Given the description of an element on the screen output the (x, y) to click on. 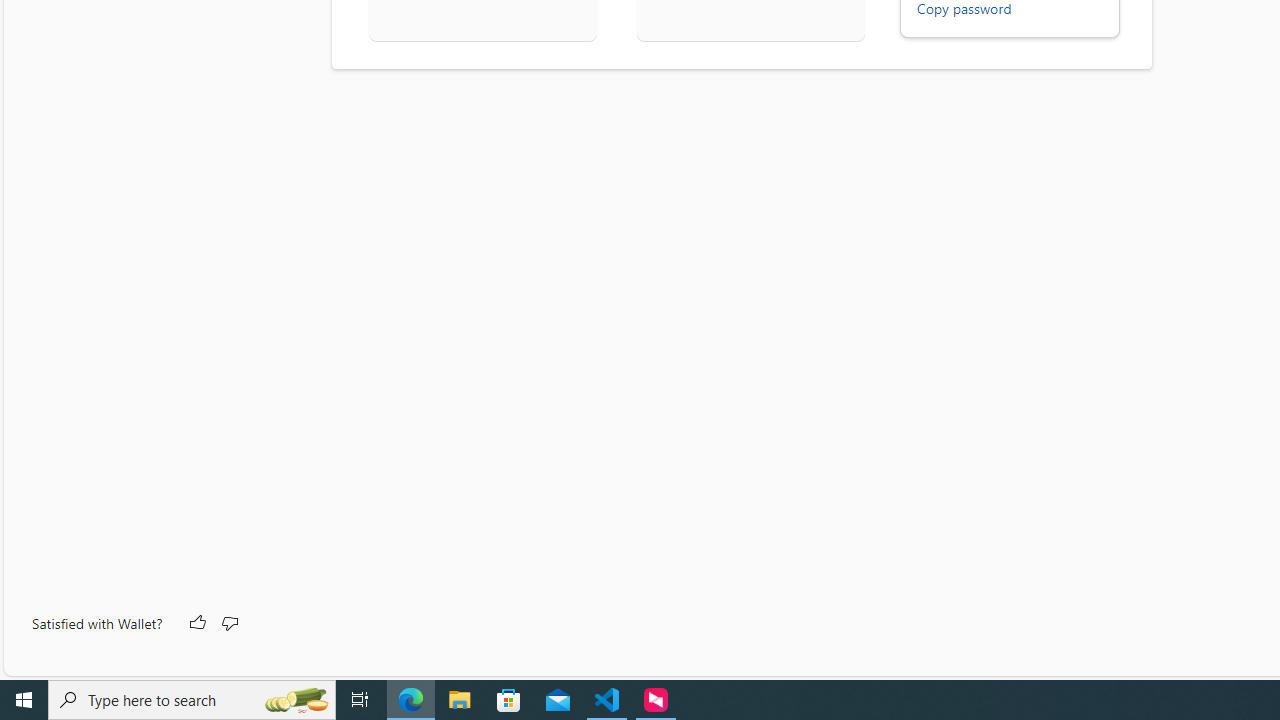
Like (196, 623)
